Given the description of an element on the screen output the (x, y) to click on. 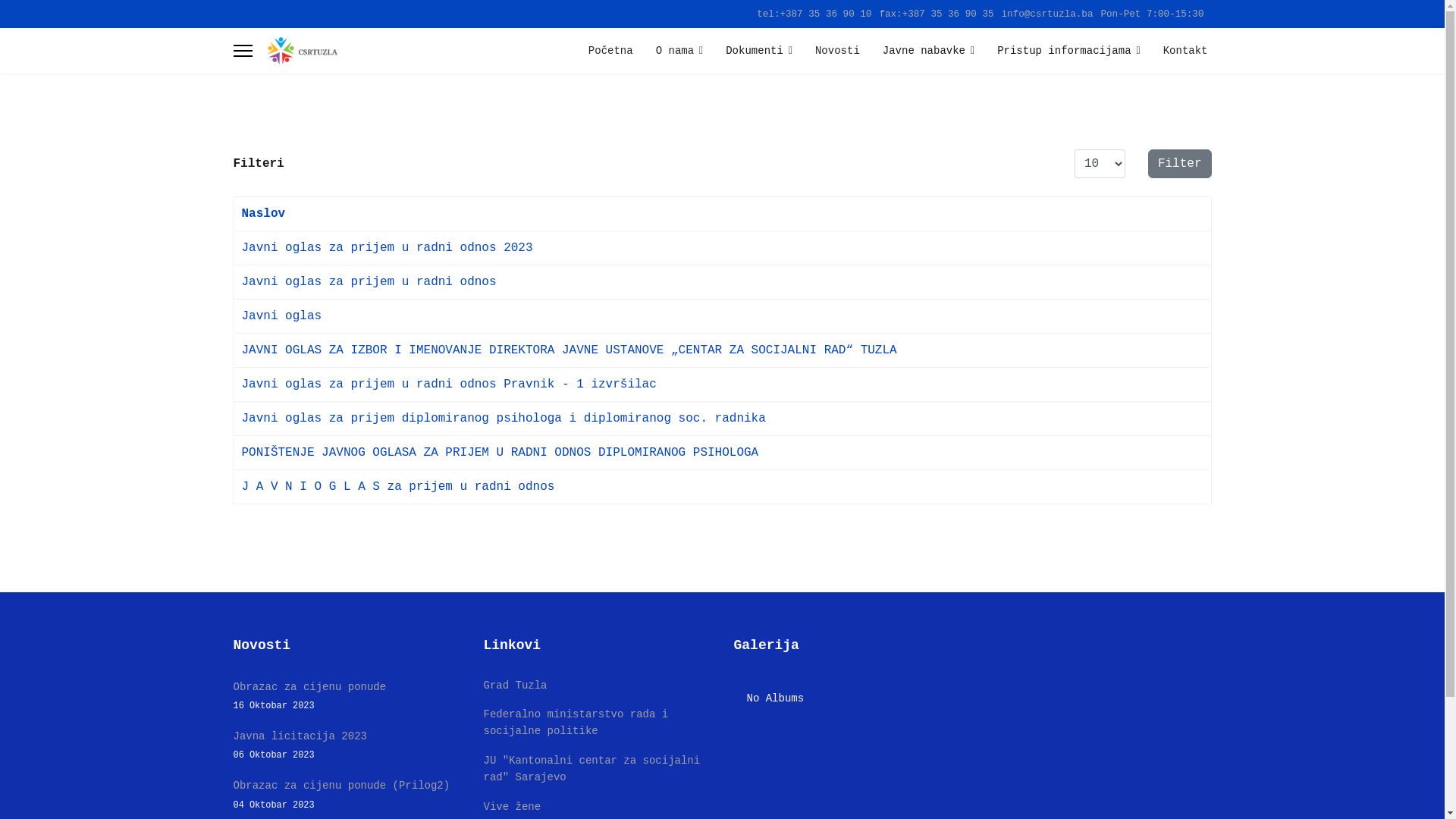
Javna licitacija 2023
06 Oktobar 2023 Element type: text (347, 745)
Javni oglas Element type: text (281, 316)
O nama Element type: text (679, 50)
tel:+387 35 36 90 10 Element type: text (813, 14)
Javni oglas za prijem u radni odnos 2023 Element type: text (386, 247)
Menu Element type: hover (242, 50)
Obrazac za cijenu ponude
16 Oktobar 2023 Element type: text (347, 695)
Grad Tuzla Element type: text (515, 685)
Kontakt Element type: text (1179, 50)
Novosti Element type: text (837, 50)
Federalno ministarstvo rada i socijalne politike Element type: text (575, 722)
Javni oglas za prijem u radni odnos Element type: text (368, 281)
JU "Kantonalni centar za socijalni rad" Sarajevo Element type: text (591, 768)
Obrazac za cijenu ponude (Prilog2)
04 Oktobar 2023 Element type: text (347, 794)
info@csrtuzla.ba Element type: text (1047, 14)
J A V N I O G L A S za prijem u radni odnos Element type: text (397, 486)
Filter Element type: text (1179, 163)
Naslov Element type: text (263, 213)
fax:+387 35 36 90 35 Element type: text (935, 14)
